Given the description of an element on the screen output the (x, y) to click on. 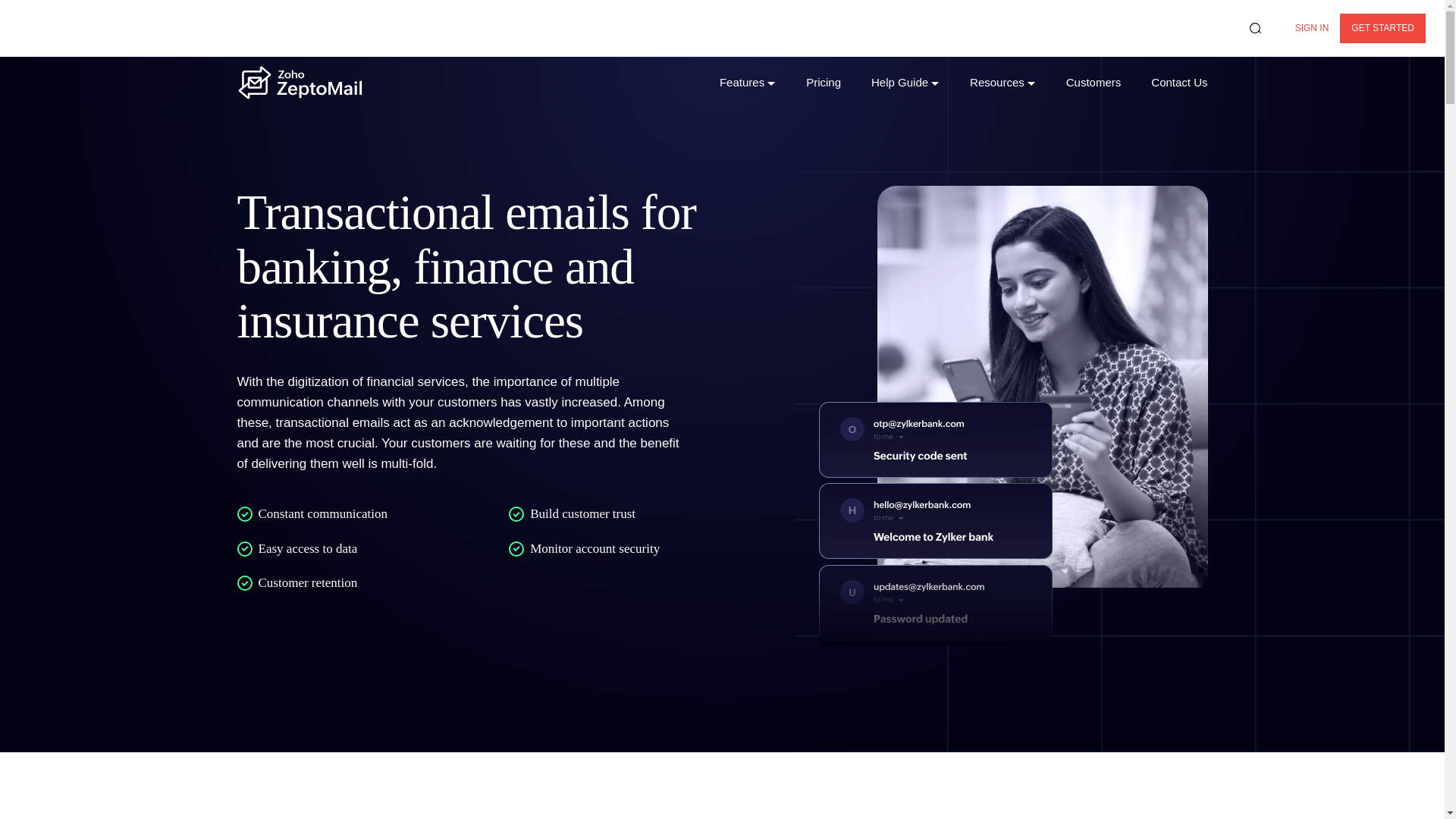
GET STARTED (1382, 28)
SIGN IN (1312, 28)
Zoho.com (60, 27)
